Given the description of an element on the screen output the (x, y) to click on. 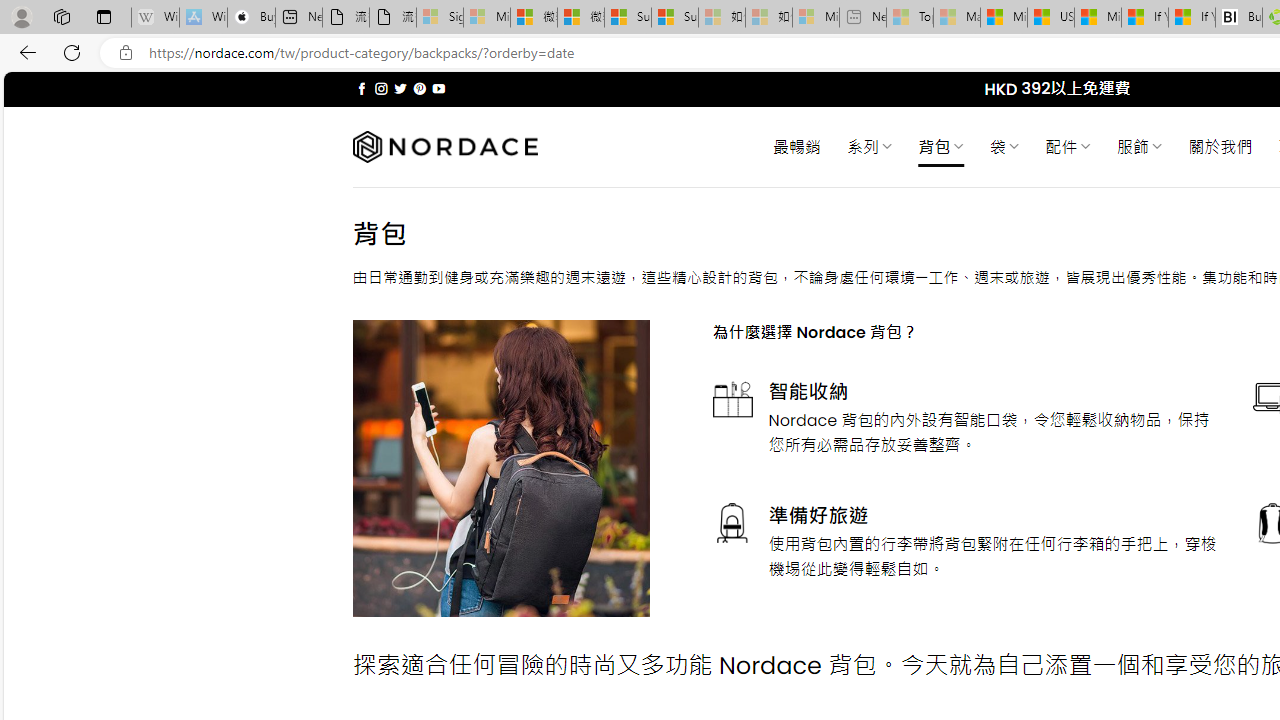
Marine life - MSN - Sleeping (957, 17)
